Given the description of an element on the screen output the (x, y) to click on. 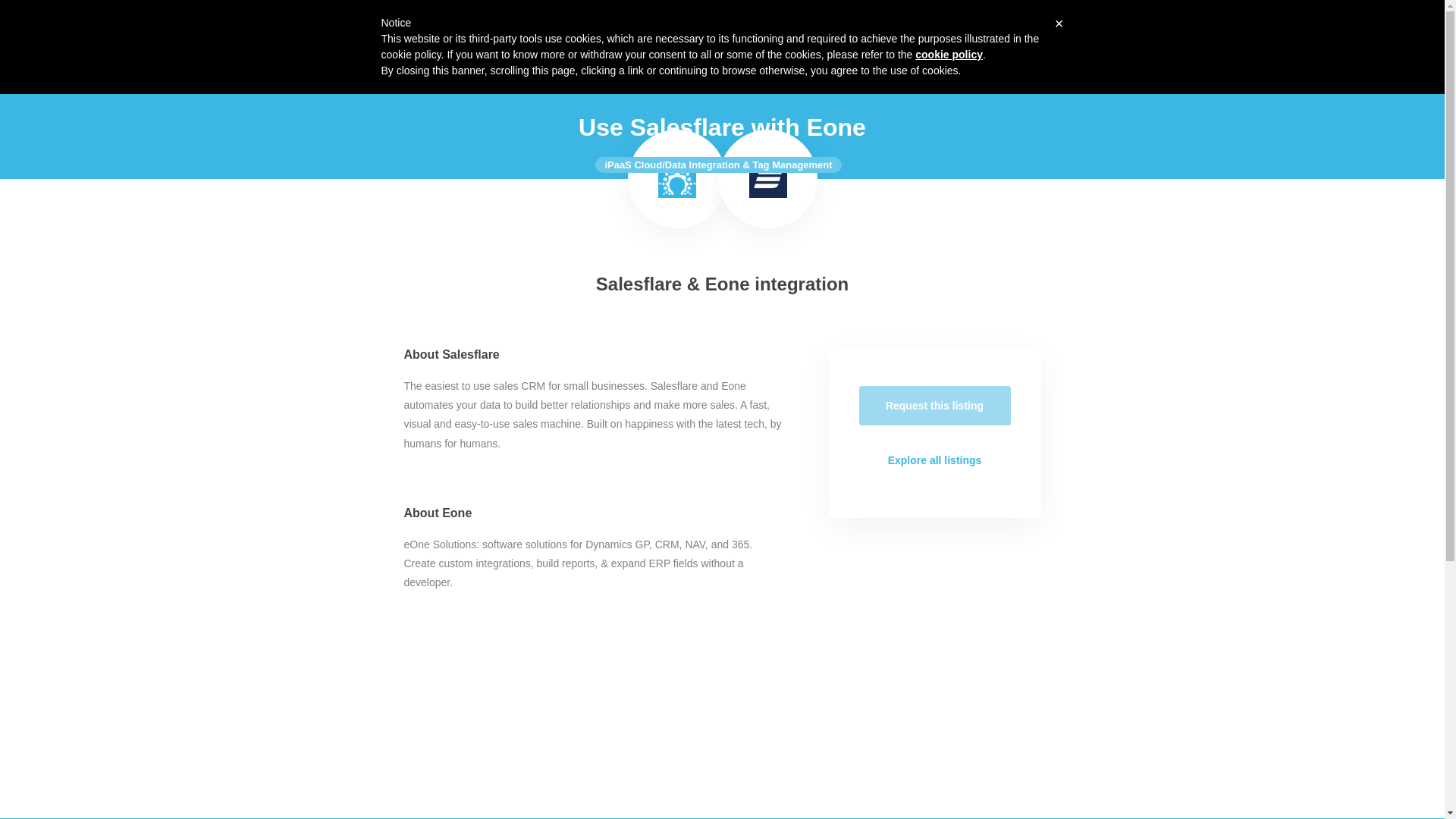
Explore all listings (934, 459)
Try it for free (1098, 26)
Eone (768, 178)
Product Tour (923, 25)
Request this listing (934, 405)
Pricing (988, 25)
Salesflare (676, 178)
Salesflare (354, 26)
Blog (1031, 25)
cookie policy (948, 54)
